Given the description of an element on the screen output the (x, y) to click on. 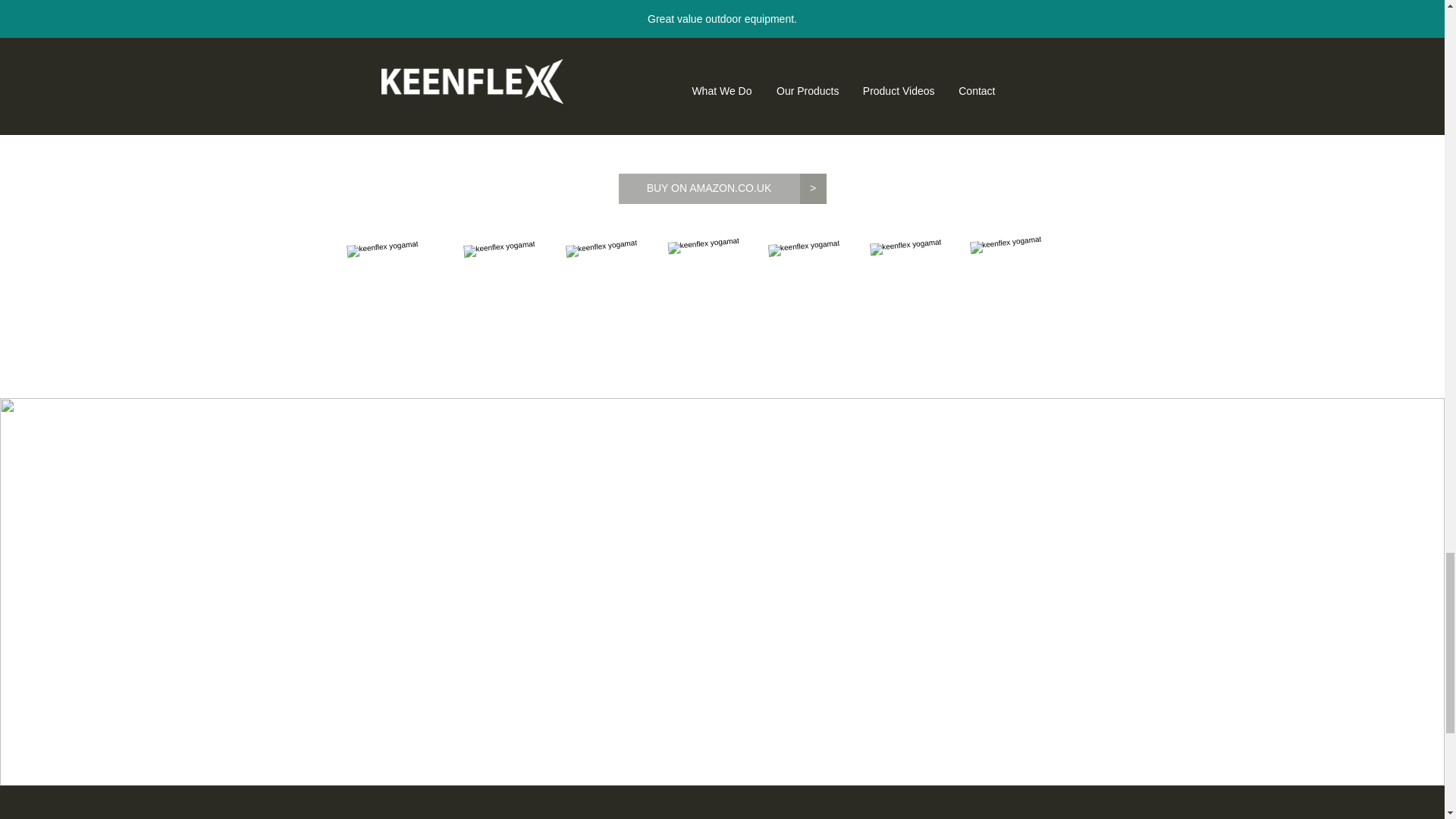
BUY ON AMAZON.CO.UK (708, 188)
